Given the description of an element on the screen output the (x, y) to click on. 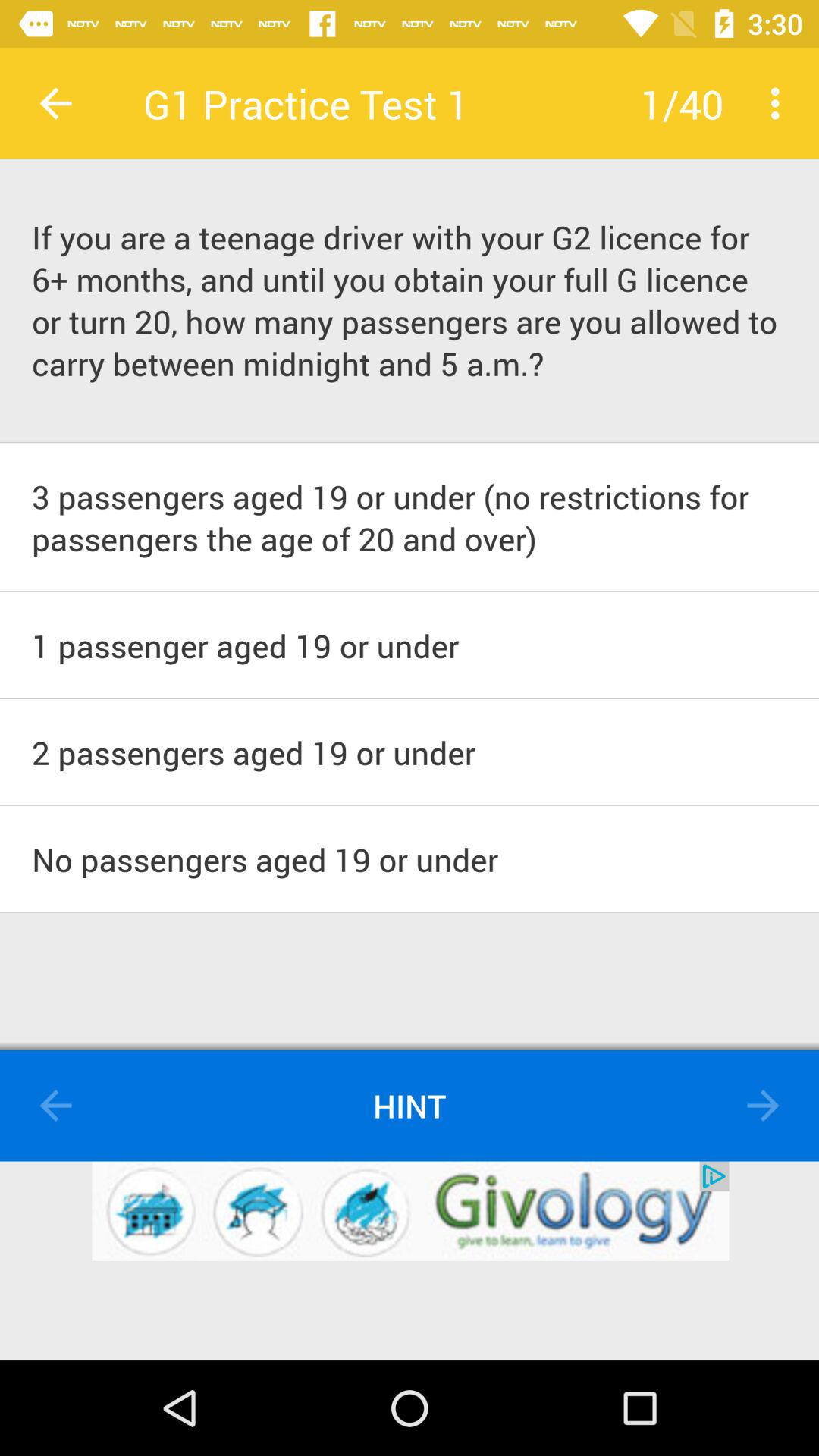
next page (763, 1105)
